Given the description of an element on the screen output the (x, y) to click on. 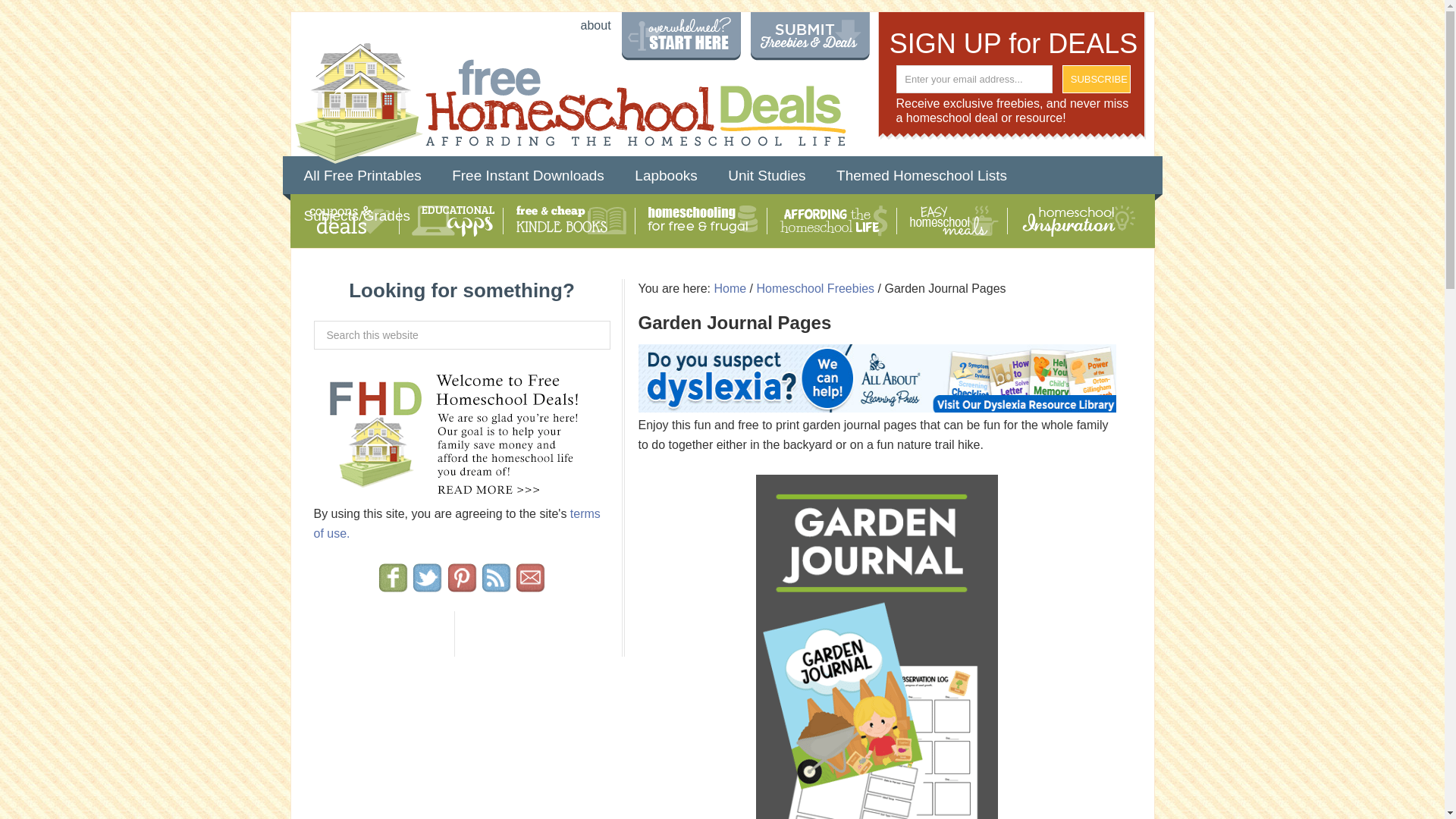
Get in Touch! (530, 585)
overwhelmed? start here (681, 41)
Themed Homeschool Lists (921, 176)
Follow me on Pinterest (461, 585)
All Free Printables (361, 176)
Subscribe (1096, 79)
Lapbooks (665, 176)
Subscribe to Free Homeschool Deals (496, 585)
Subscribe (1096, 79)
Follow me on Facebook (393, 585)
Free Instant Downloads (527, 176)
Follow me on Twitter (427, 585)
Themed Homeschool Lists (921, 176)
